Given the description of an element on the screen output the (x, y) to click on. 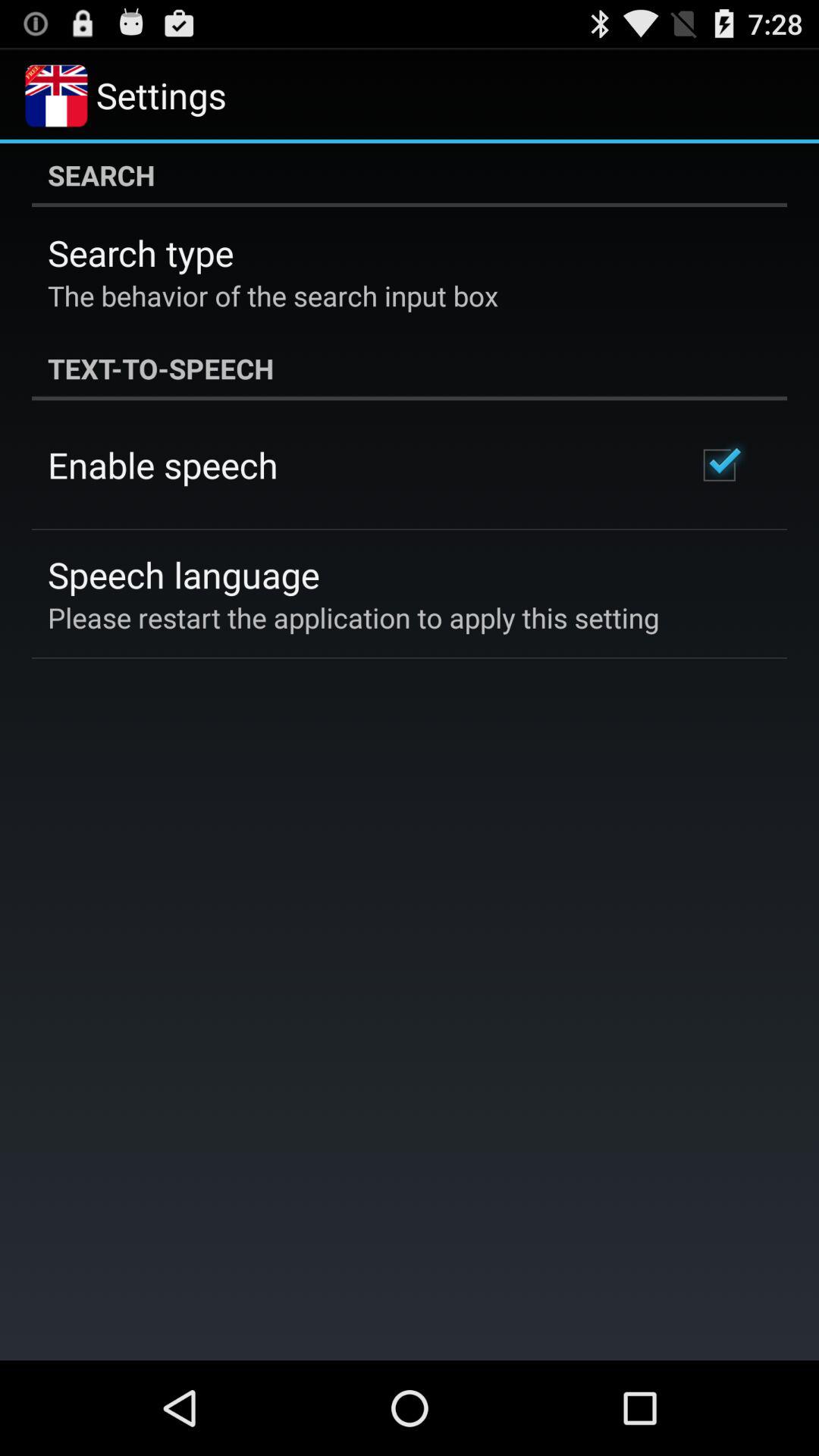
jump to the text-to-speech item (409, 368)
